Given the description of an element on the screen output the (x, y) to click on. 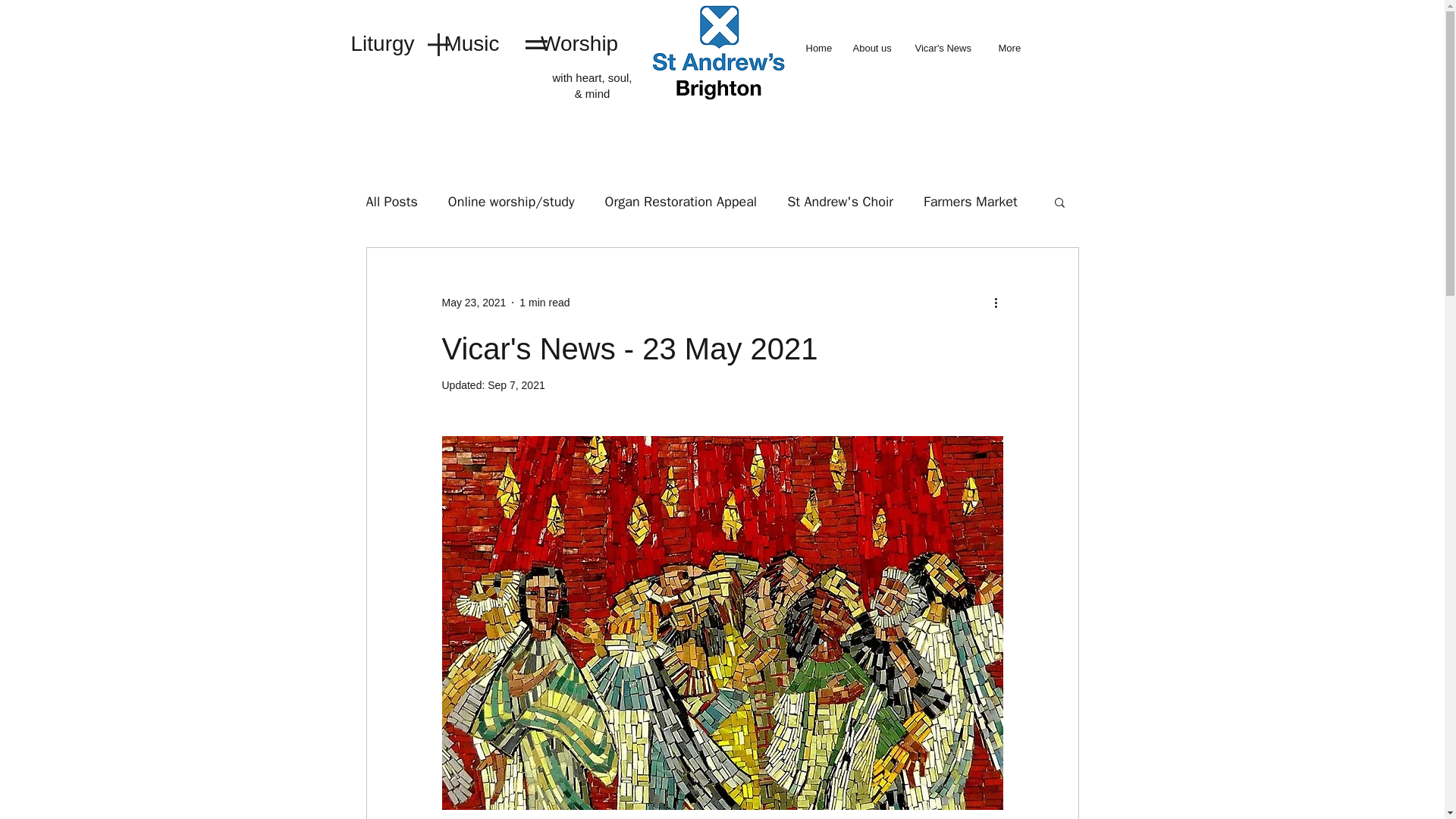
St Andrew's Choir (840, 201)
May 23, 2021 (473, 301)
Organ Restoration Appeal (681, 201)
Sep 7, 2021 (515, 385)
1 min read (544, 301)
Home (820, 47)
All Posts (390, 201)
About us (875, 47)
Vicar's News (948, 47)
Farmers Market (970, 201)
